Given the description of an element on the screen output the (x, y) to click on. 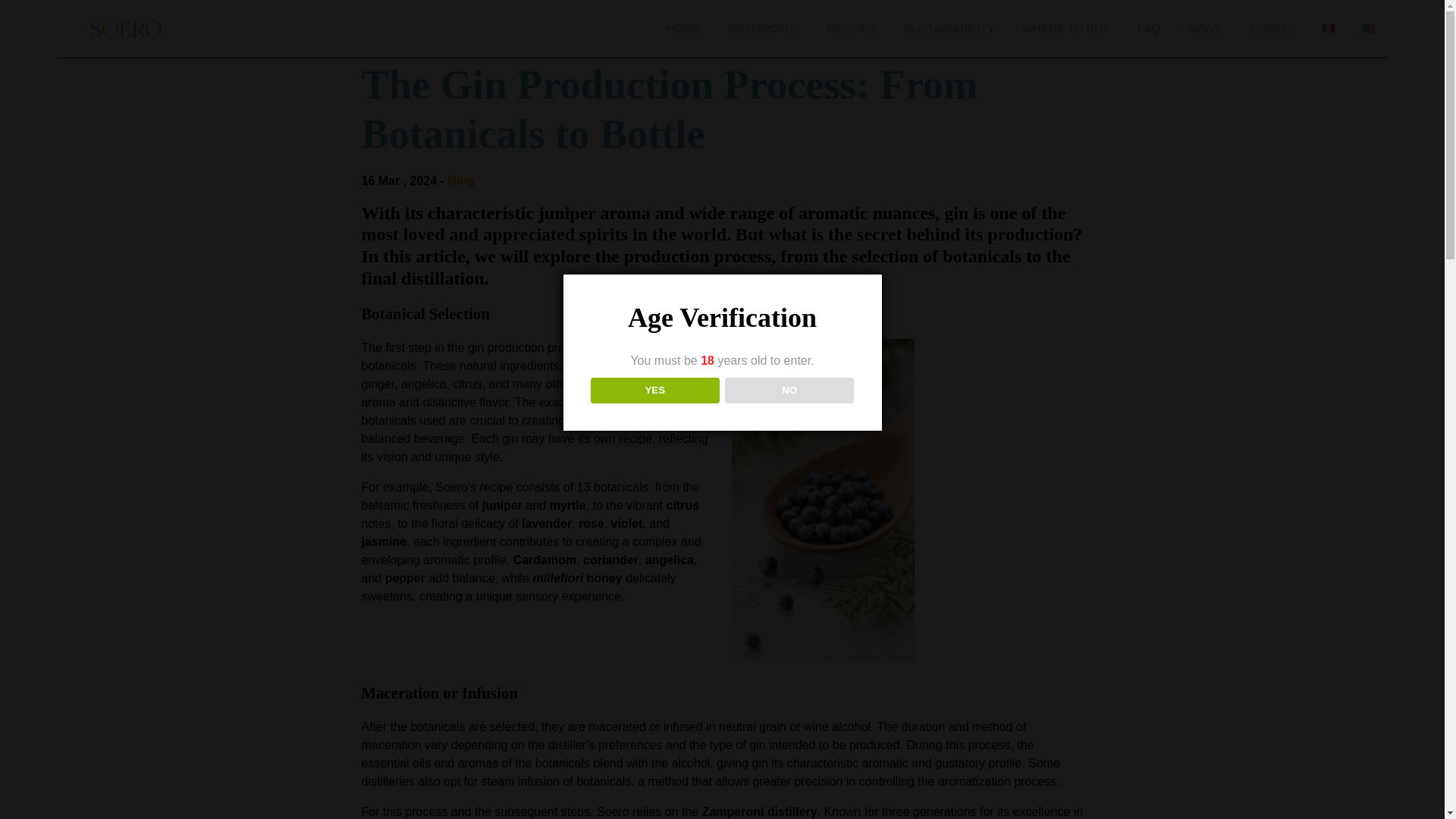
RECIPES (850, 28)
Blog (460, 180)
NEWS (1203, 28)
NO (789, 390)
FAQ (1148, 28)
YES (655, 390)
EVENTS (1272, 28)
SUSTAINABILITY (949, 28)
HOME (682, 28)
BOTANICALS (762, 28)
